Given the description of an element on the screen output the (x, y) to click on. 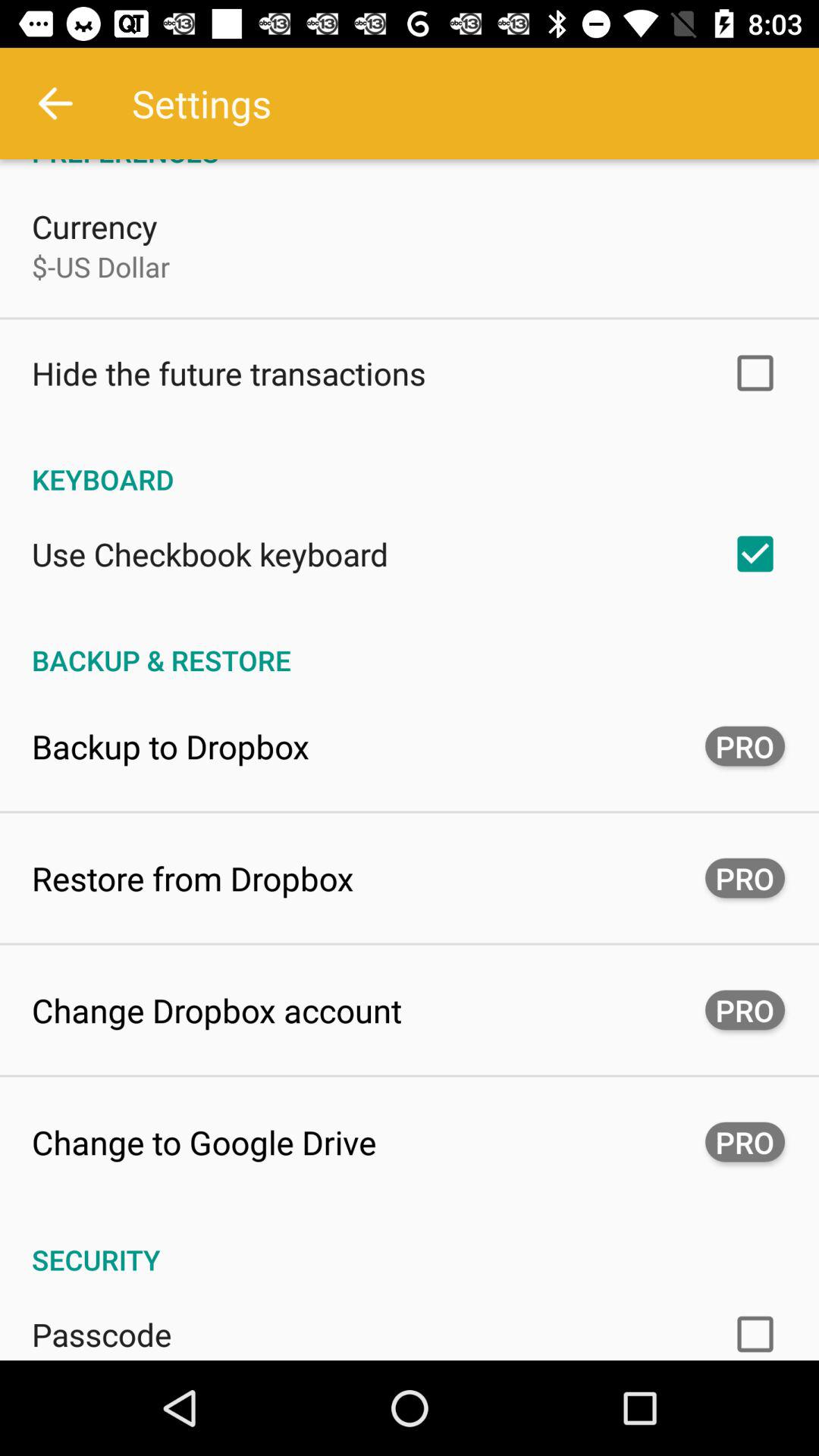
open change dropbox account icon (216, 1009)
